Given the description of an element on the screen output the (x, y) to click on. 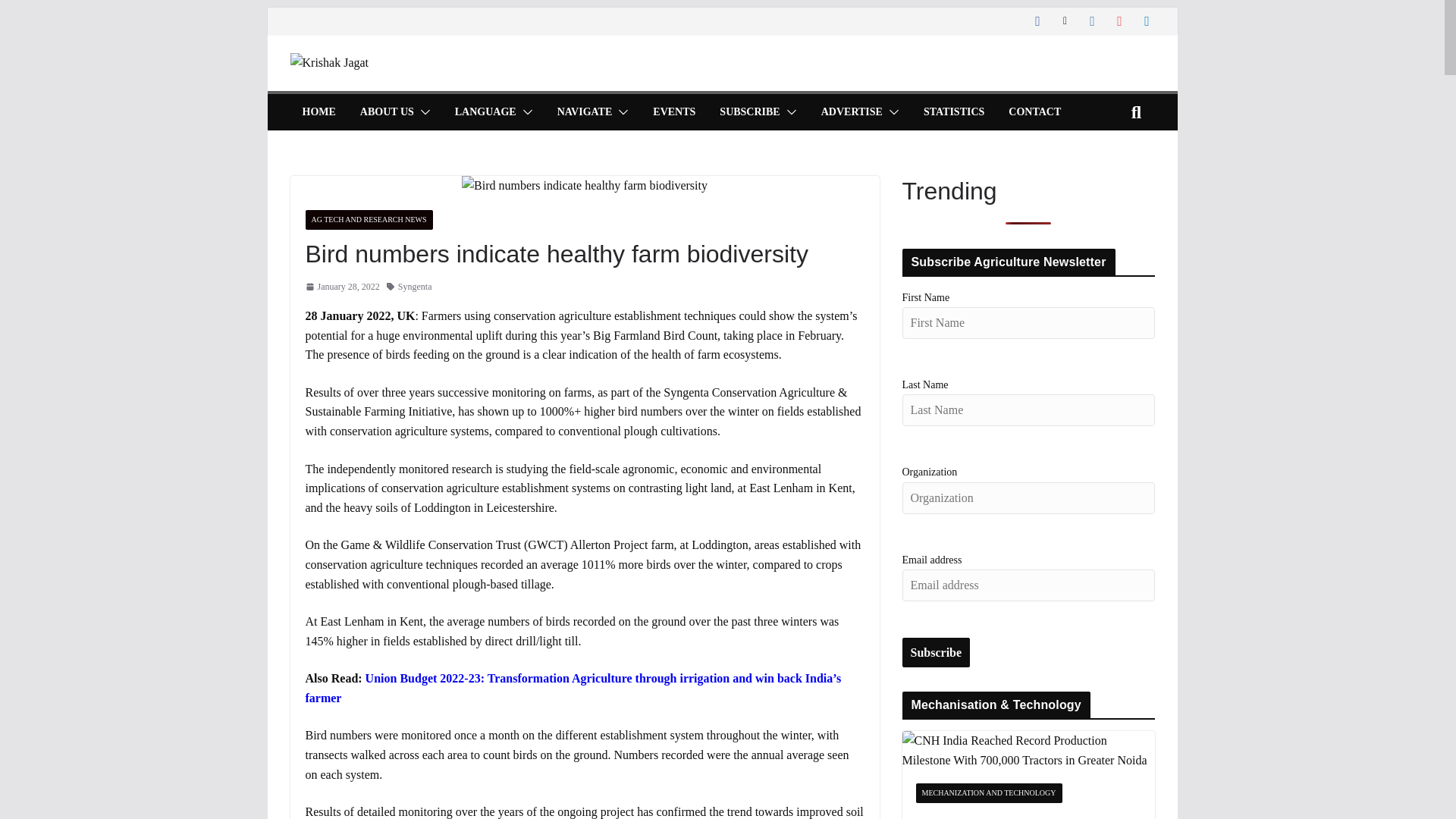
ABOUT US (386, 111)
ADVERTISE (851, 111)
SUBSCRIBE (748, 111)
LANGUAGE (485, 111)
Subscribe (936, 653)
5:44 pm (341, 287)
NAVIGATE (584, 111)
HOME (317, 111)
EVENTS (673, 111)
